Given the description of an element on the screen output the (x, y) to click on. 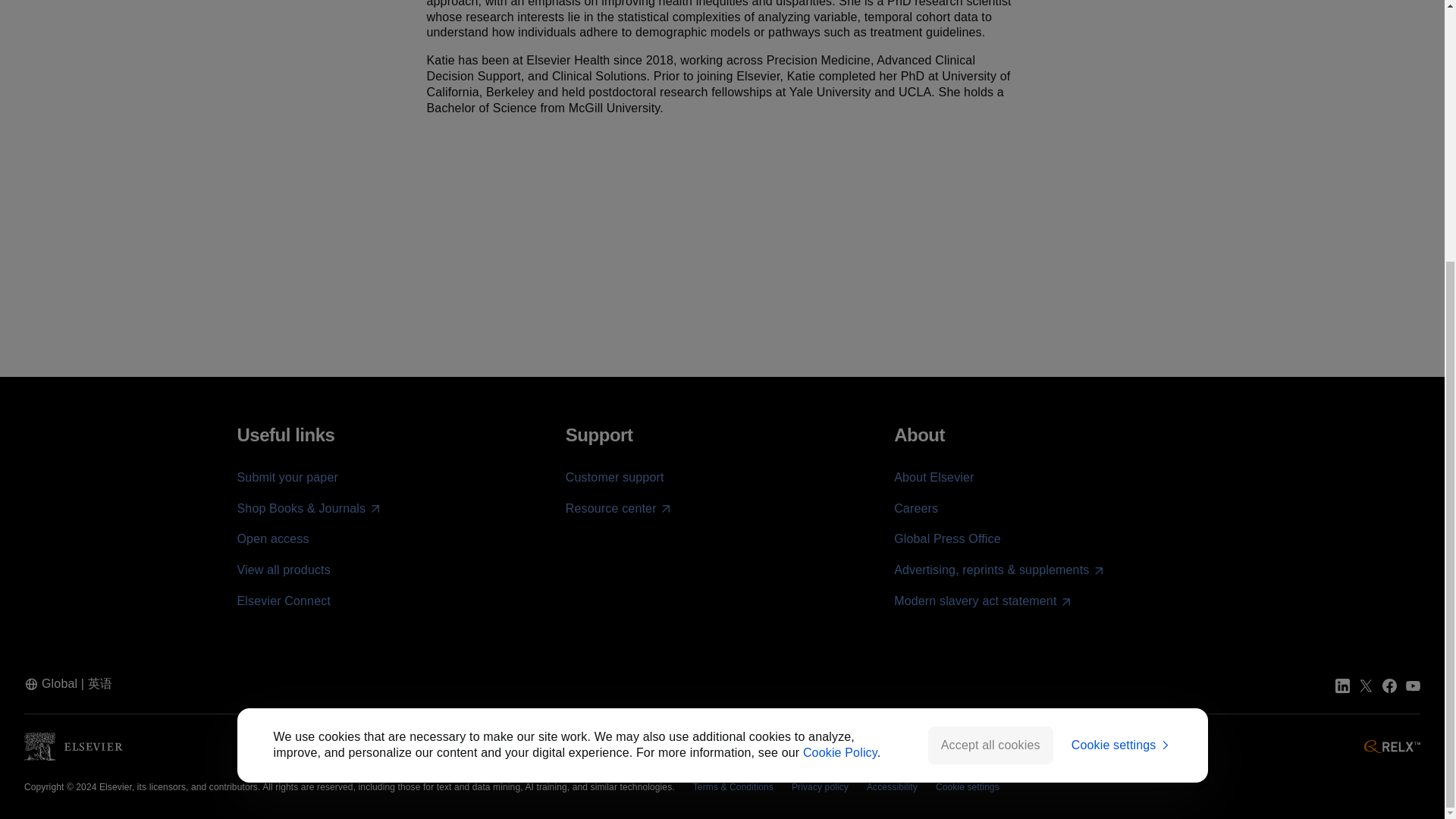
Resource center (618, 508)
Customer support (614, 477)
Careers (915, 508)
About Elsevier (933, 477)
Cookie settings (1121, 371)
View all products (282, 569)
Open access (271, 538)
Cookie Policy (840, 377)
Accept all cookies (990, 370)
Elsevier Connect (282, 600)
